Given the description of an element on the screen output the (x, y) to click on. 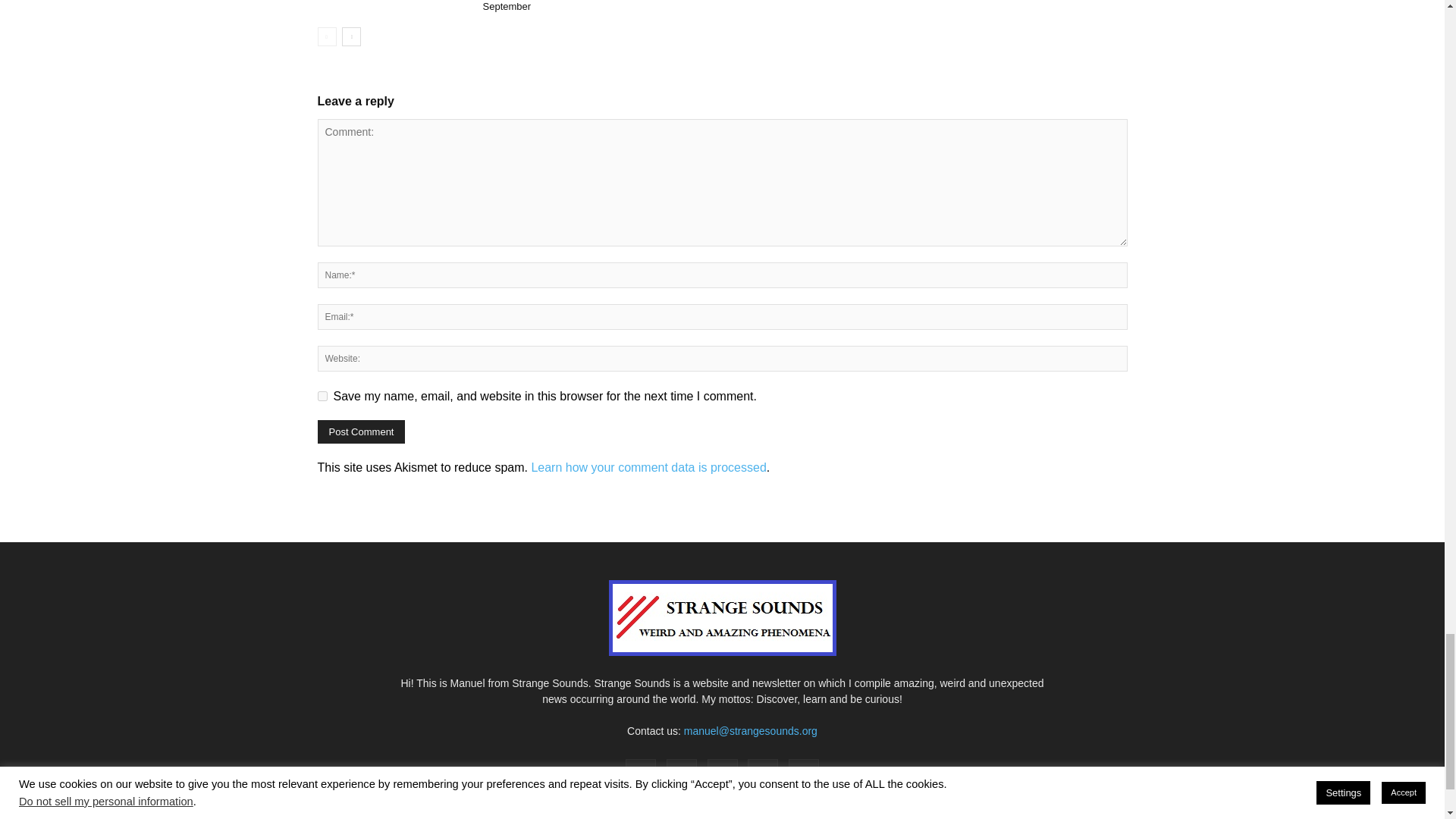
Post Comment (360, 431)
yes (321, 396)
